Given the description of an element on the screen output the (x, y) to click on. 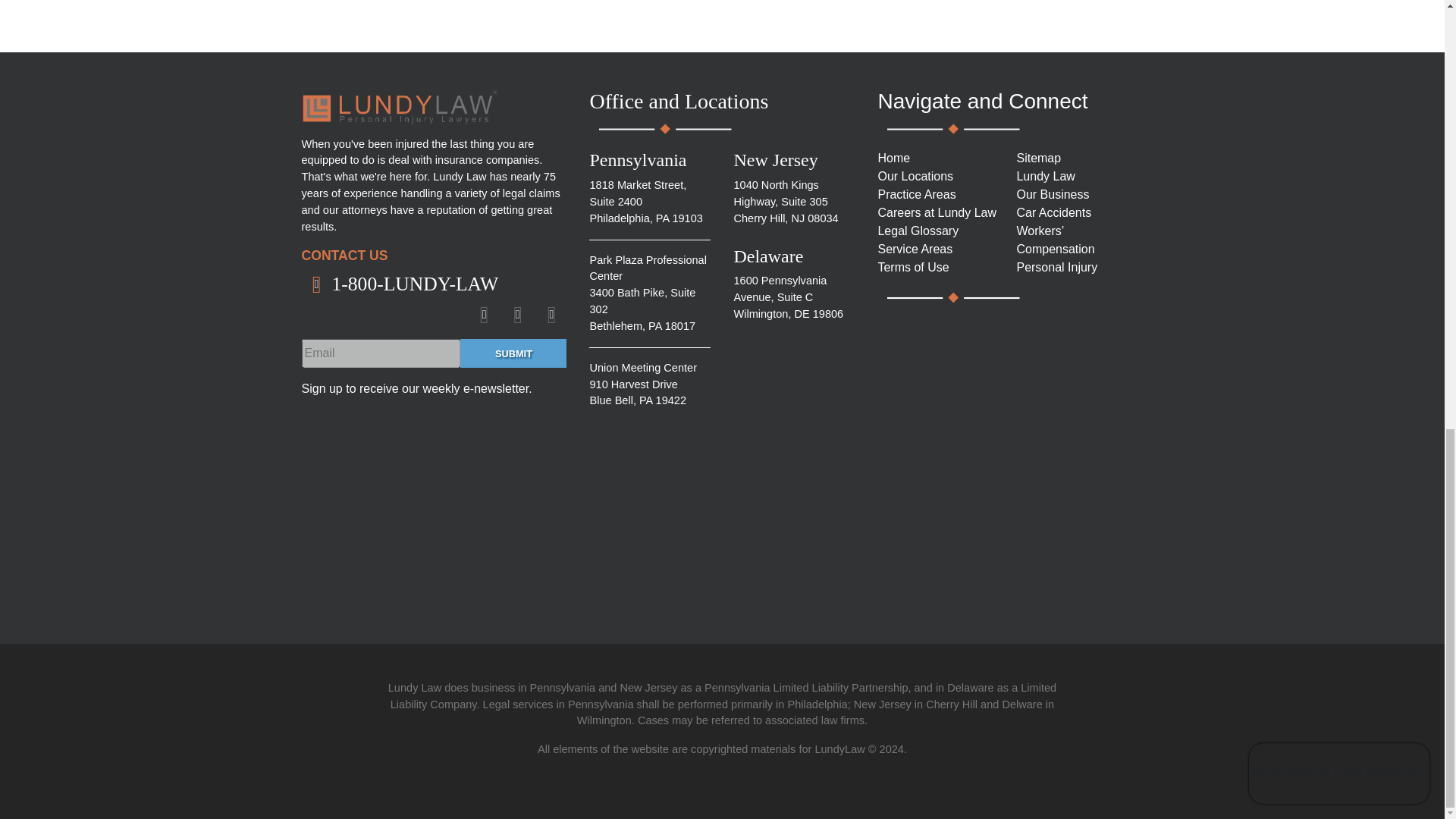
Submit (513, 353)
